Given the description of an element on the screen output the (x, y) to click on. 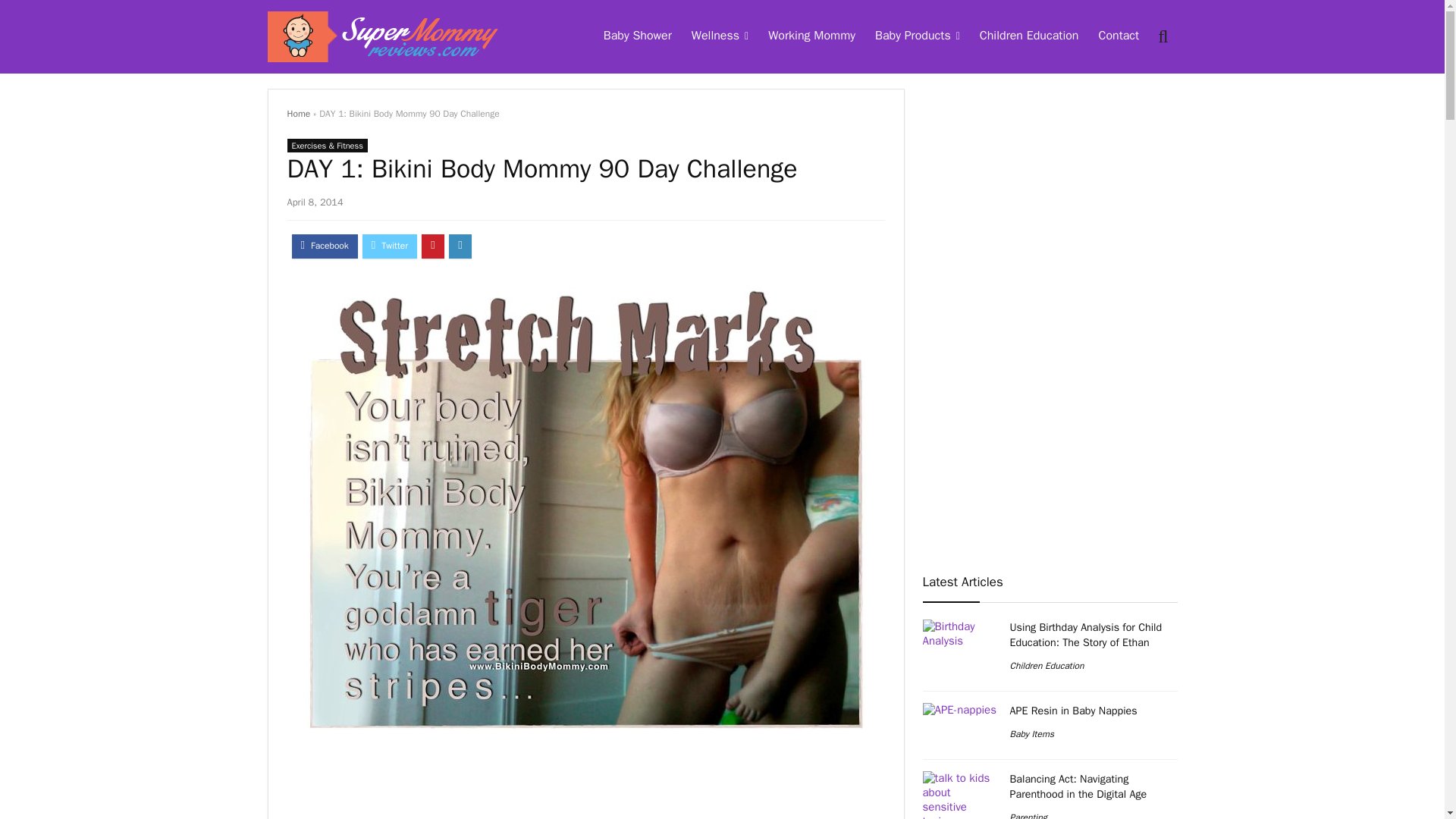
Contact (1117, 36)
Working Mommy (811, 36)
Wellness (719, 36)
Home (298, 113)
Children Education (1029, 36)
Baby Shower (637, 36)
Baby Products (916, 36)
